Given the description of an element on the screen output the (x, y) to click on. 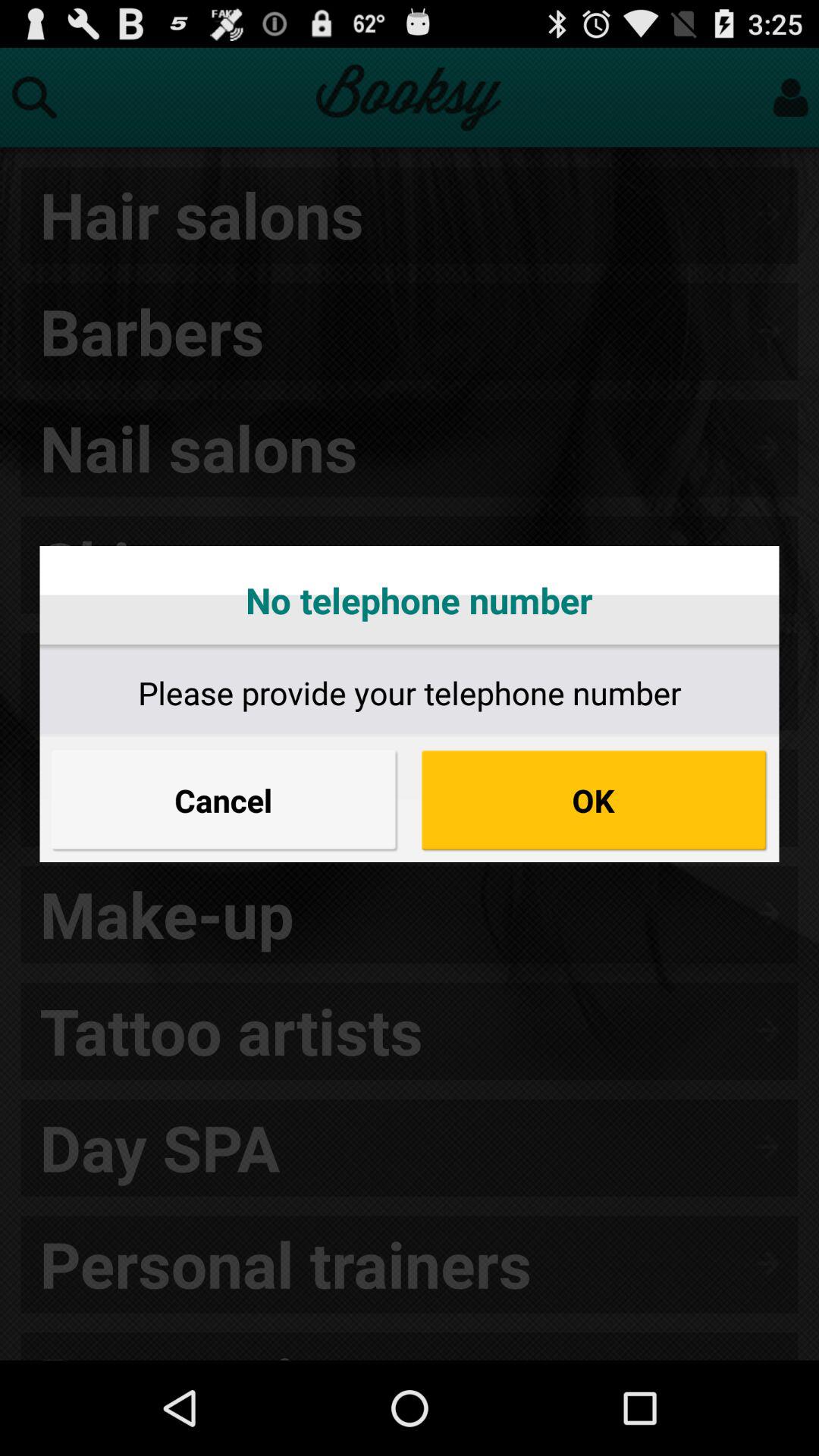
launch button next to the cancel (593, 799)
